Given the description of an element on the screen output the (x, y) to click on. 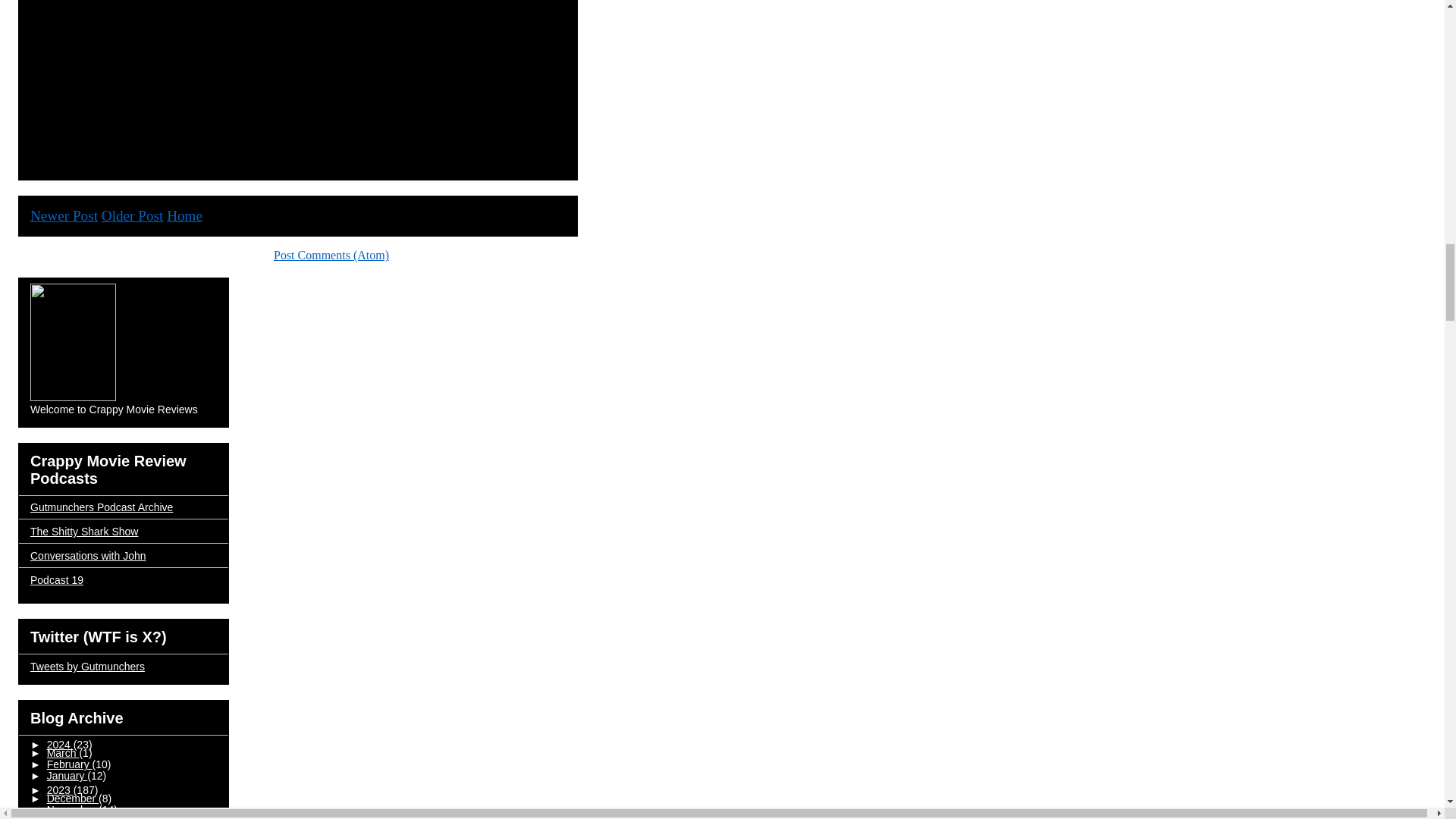
Newer Post (63, 215)
Older Post (132, 215)
Older Post (132, 215)
Newer Post (63, 215)
Home (184, 215)
